Given the description of an element on the screen output the (x, y) to click on. 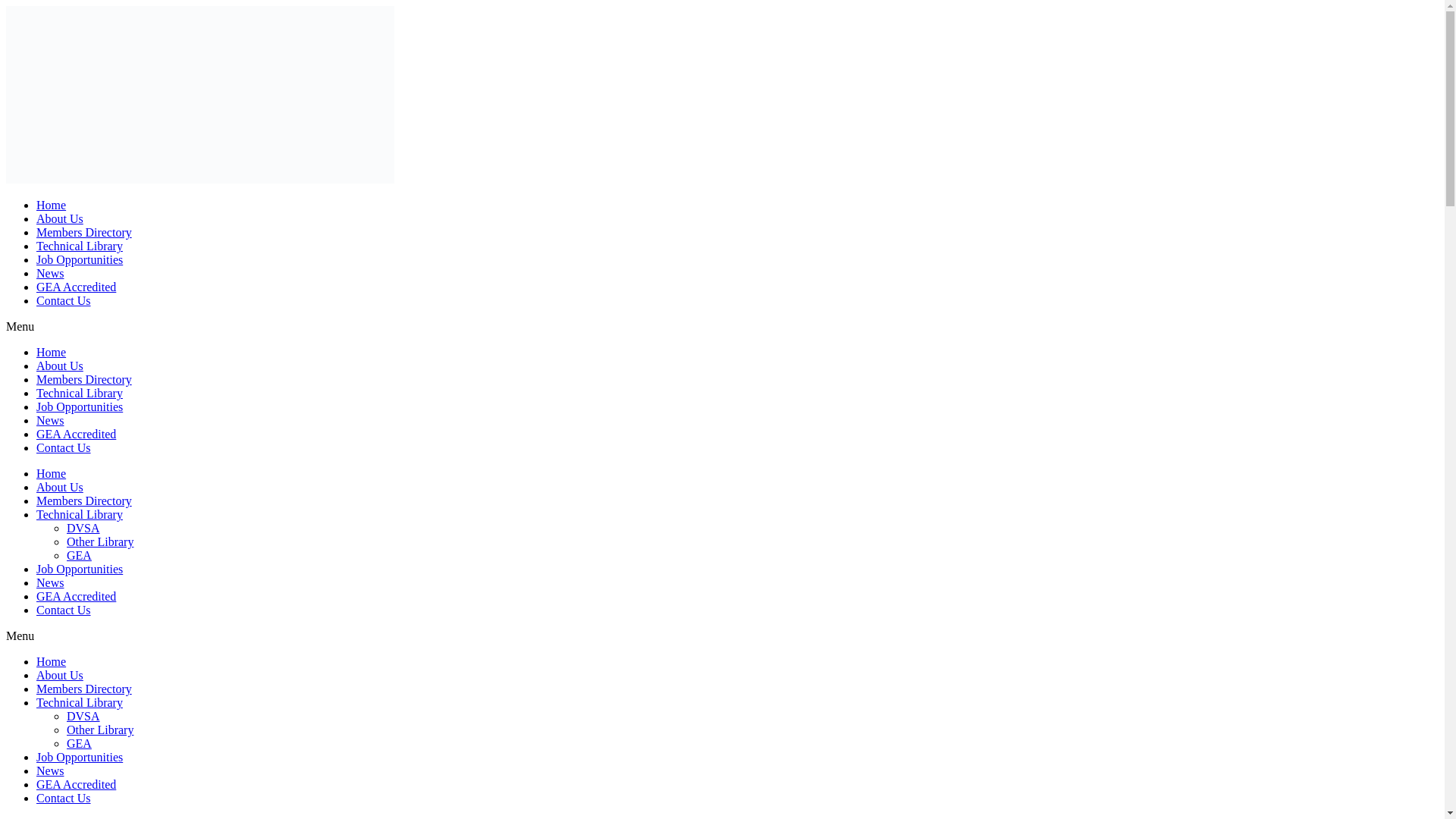
Technical Library (79, 245)
Other Library (99, 729)
Members Directory (84, 379)
News (50, 273)
GEA (78, 554)
News (50, 770)
GEA (78, 743)
About Us (59, 486)
Home (50, 472)
Technical Library (79, 702)
